Given the description of an element on the screen output the (x, y) to click on. 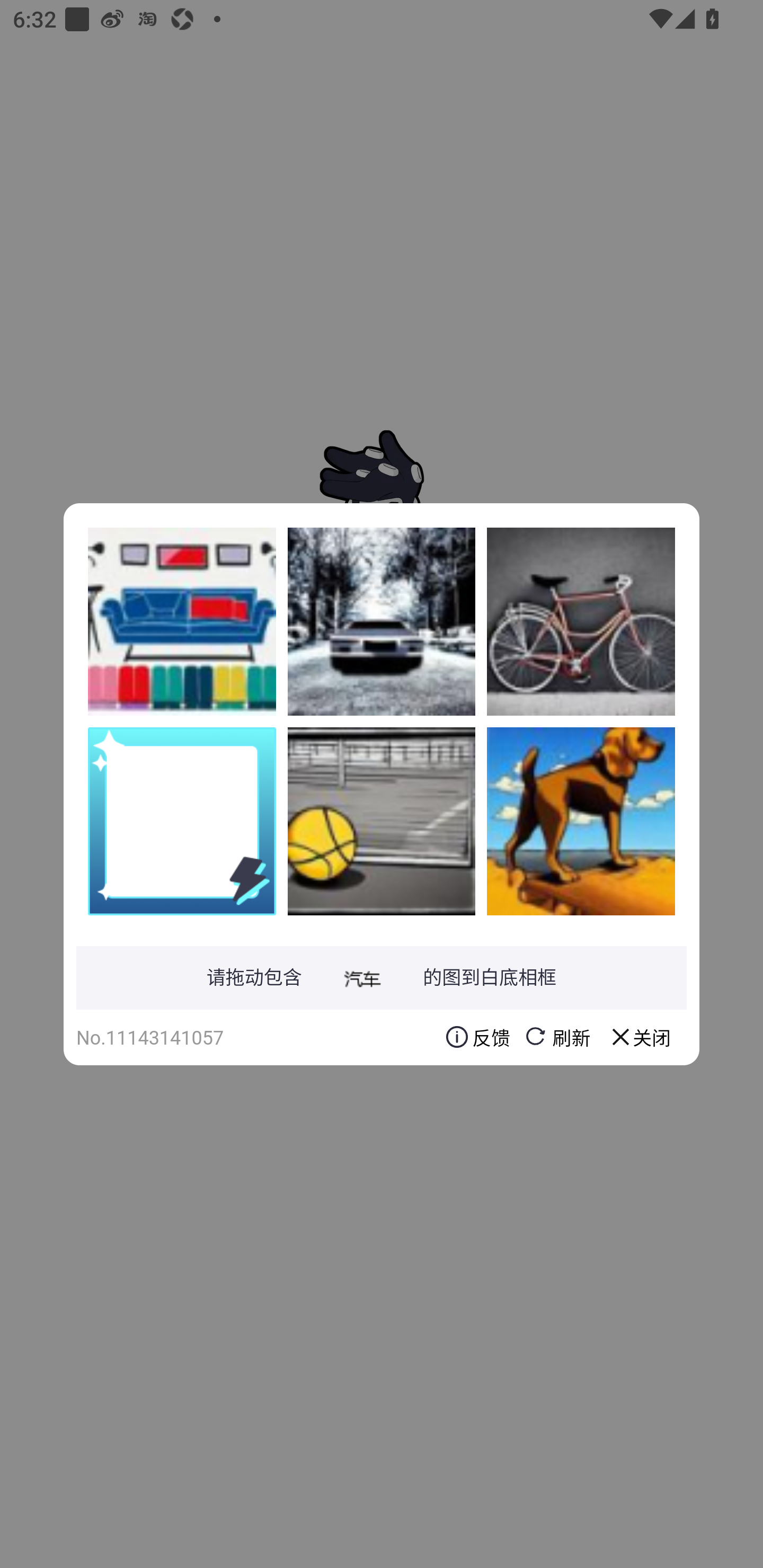
ak5YWgsk (181, 621)
Pt1GR5 (381, 621)
8FvXpibh3ZDdObV (580, 621)
